Given the description of an element on the screen output the (x, y) to click on. 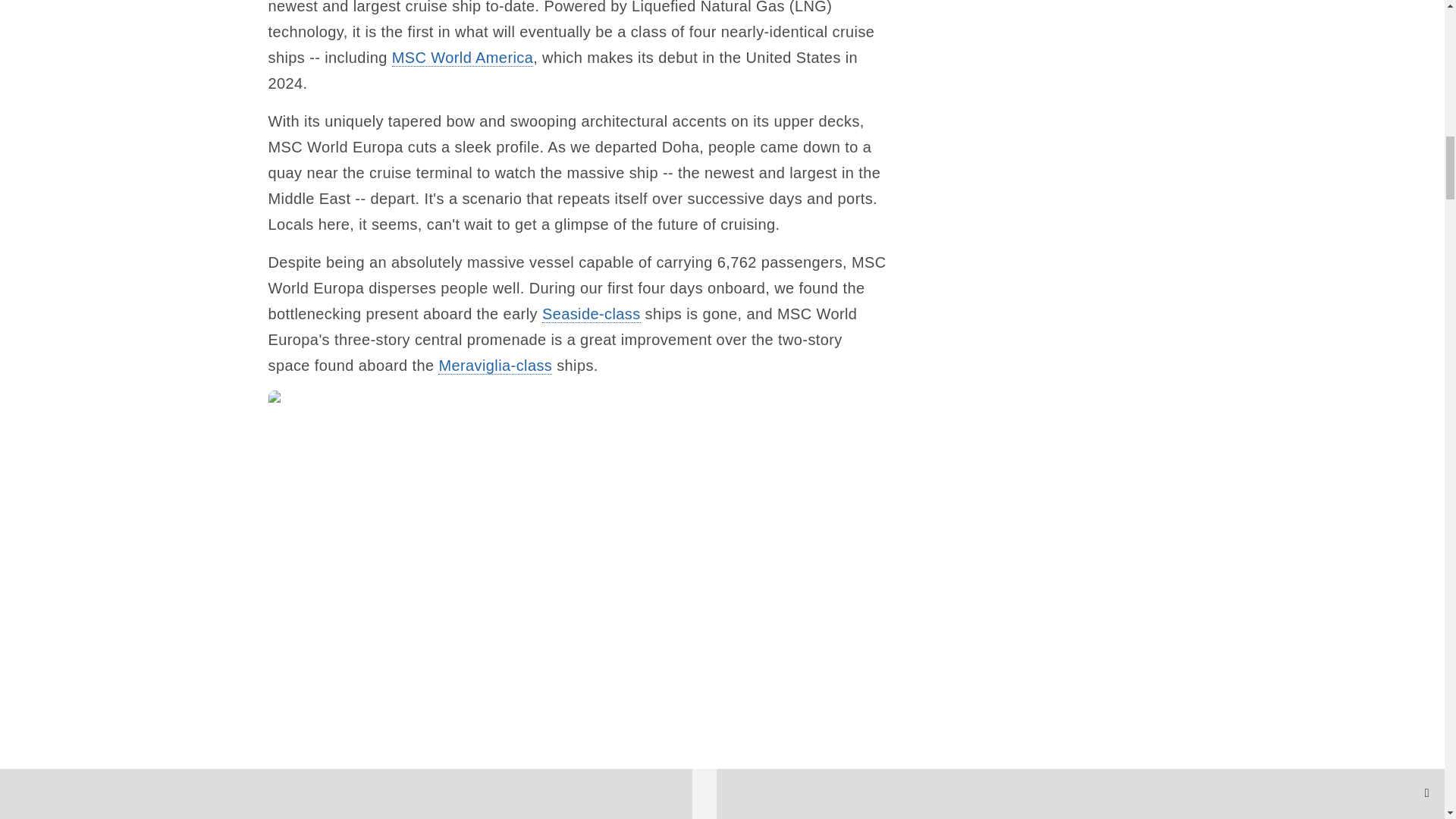
MSC World America (461, 57)
Meraviglia-class (494, 365)
Seaside-class (590, 313)
